Given the description of an element on the screen output the (x, y) to click on. 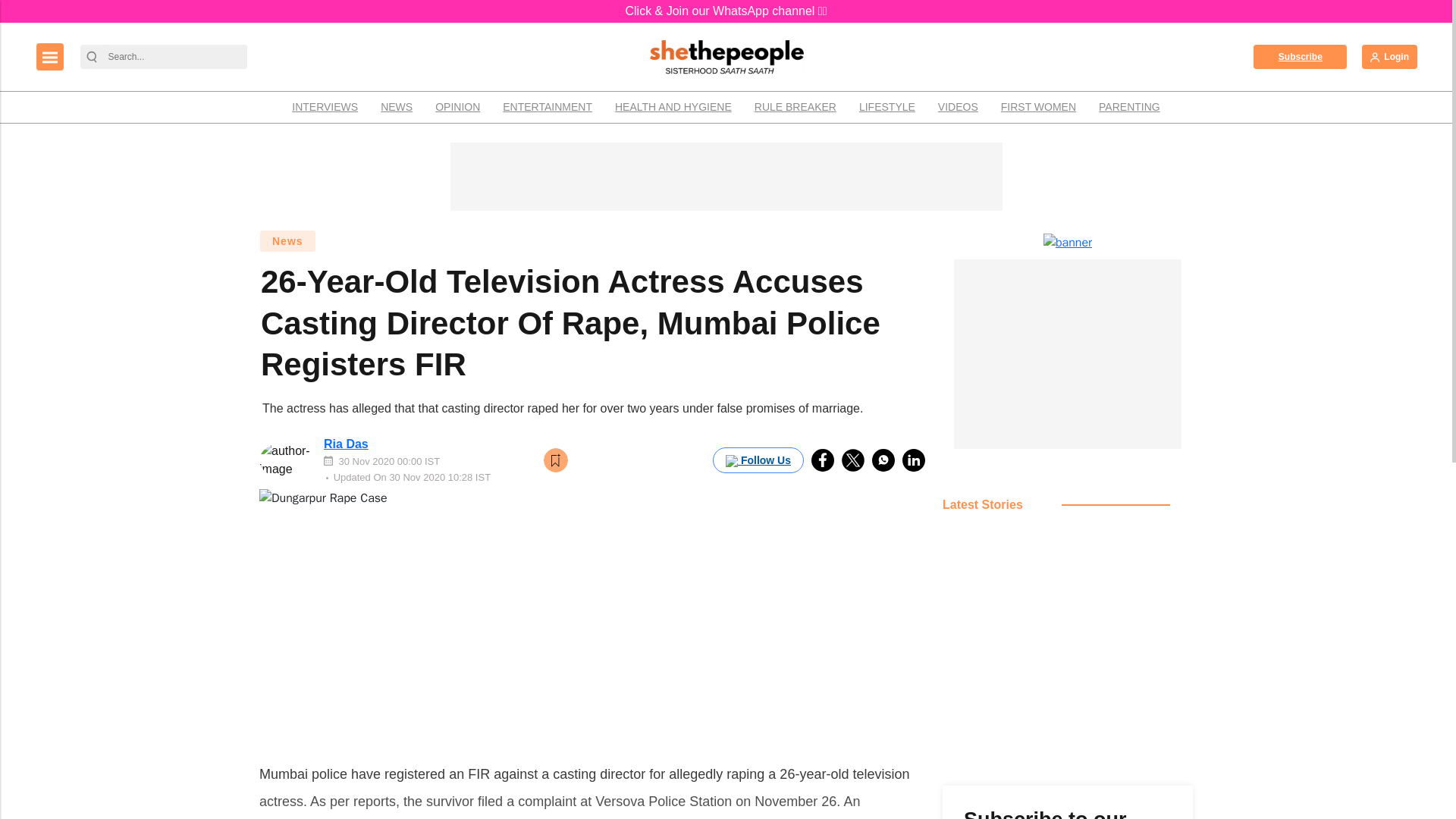
INTERVIEWS (325, 106)
HEALTH AND HYGIENE (673, 106)
ENTERTAINMENT (548, 106)
VIDEOS (958, 106)
LIFESTYLE (886, 106)
NEWS (396, 106)
FIRST WOMEN (1038, 106)
Login (1388, 56)
News (287, 241)
RULE BREAKER (794, 106)
Ria Das (345, 443)
Subscribe (1299, 56)
PARENTING (1129, 106)
OPINION (457, 106)
